Given the description of an element on the screen output the (x, y) to click on. 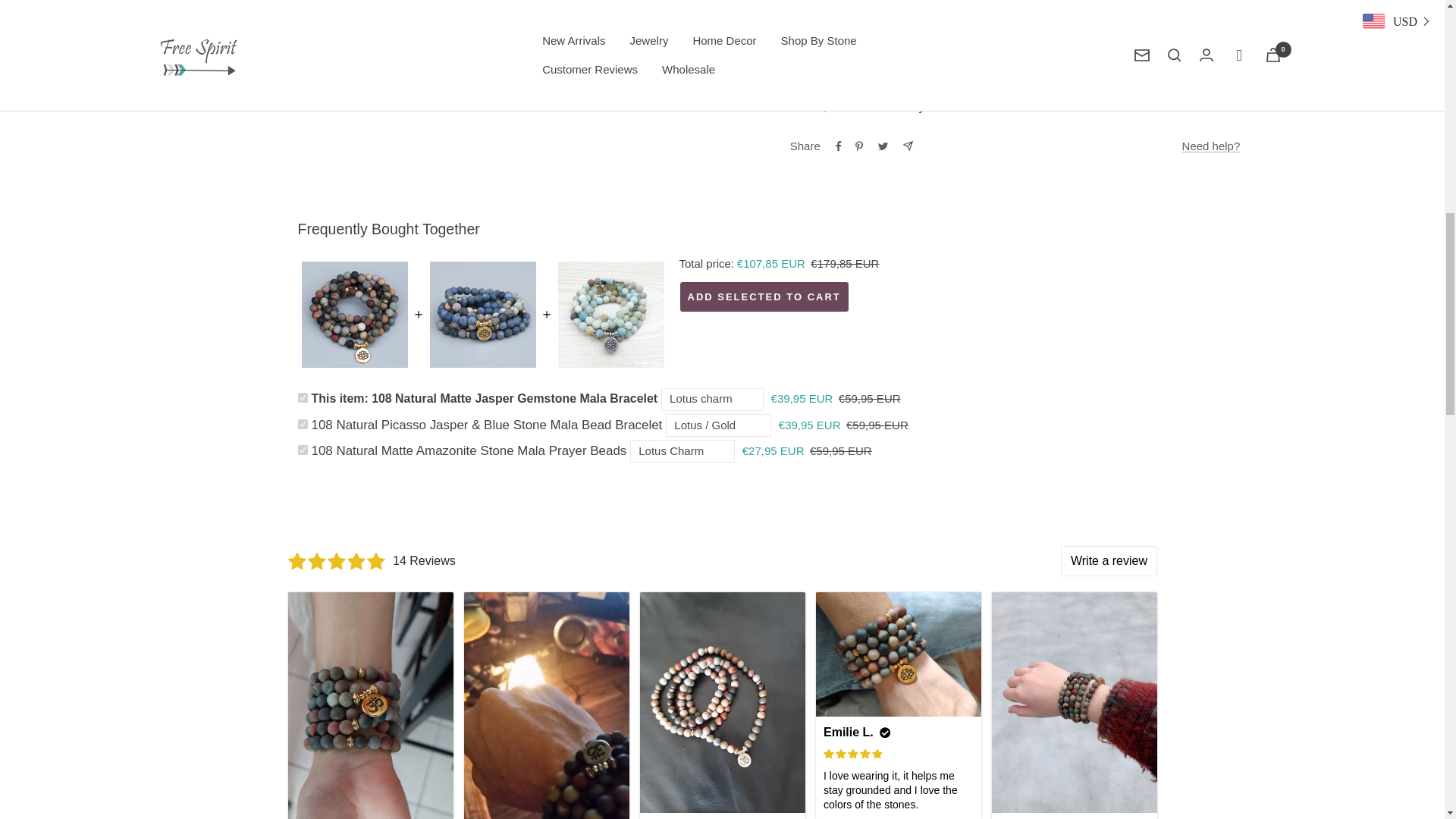
on (302, 424)
on (302, 397)
on (302, 450)
